Given the description of an element on the screen output the (x, y) to click on. 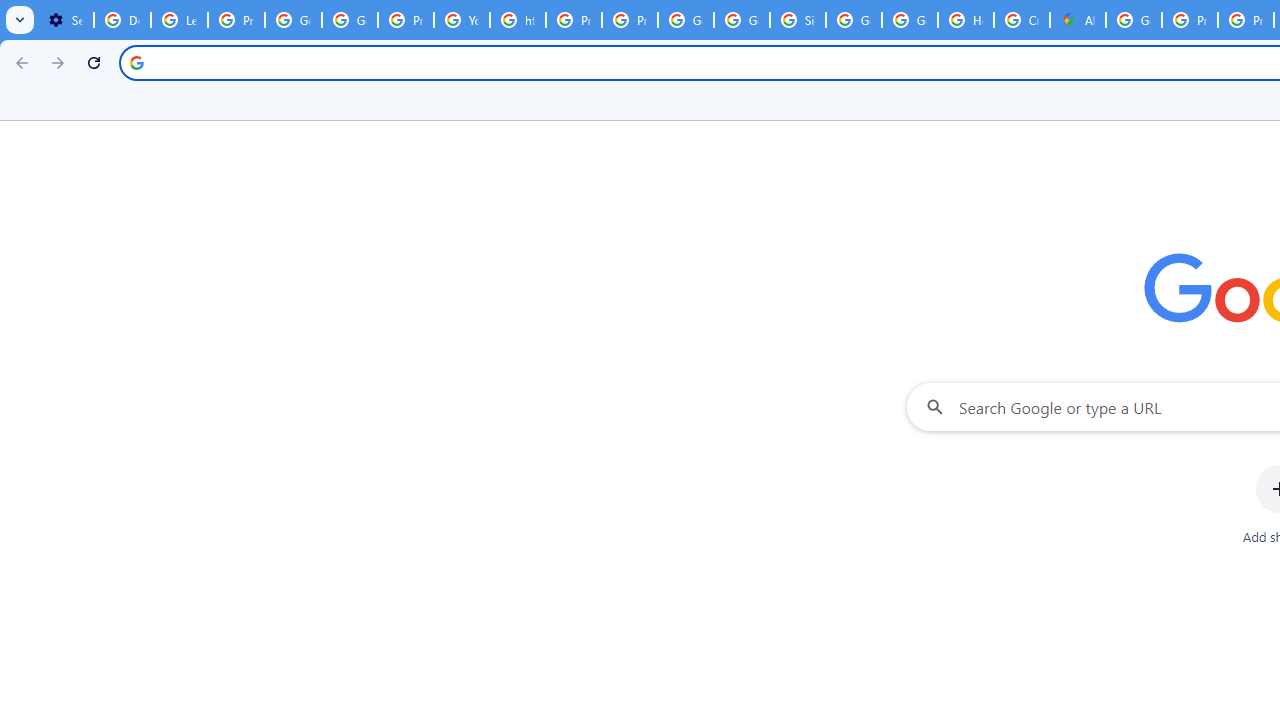
Sign in - Google Accounts (797, 20)
